Given the description of an element on the screen output the (x, y) to click on. 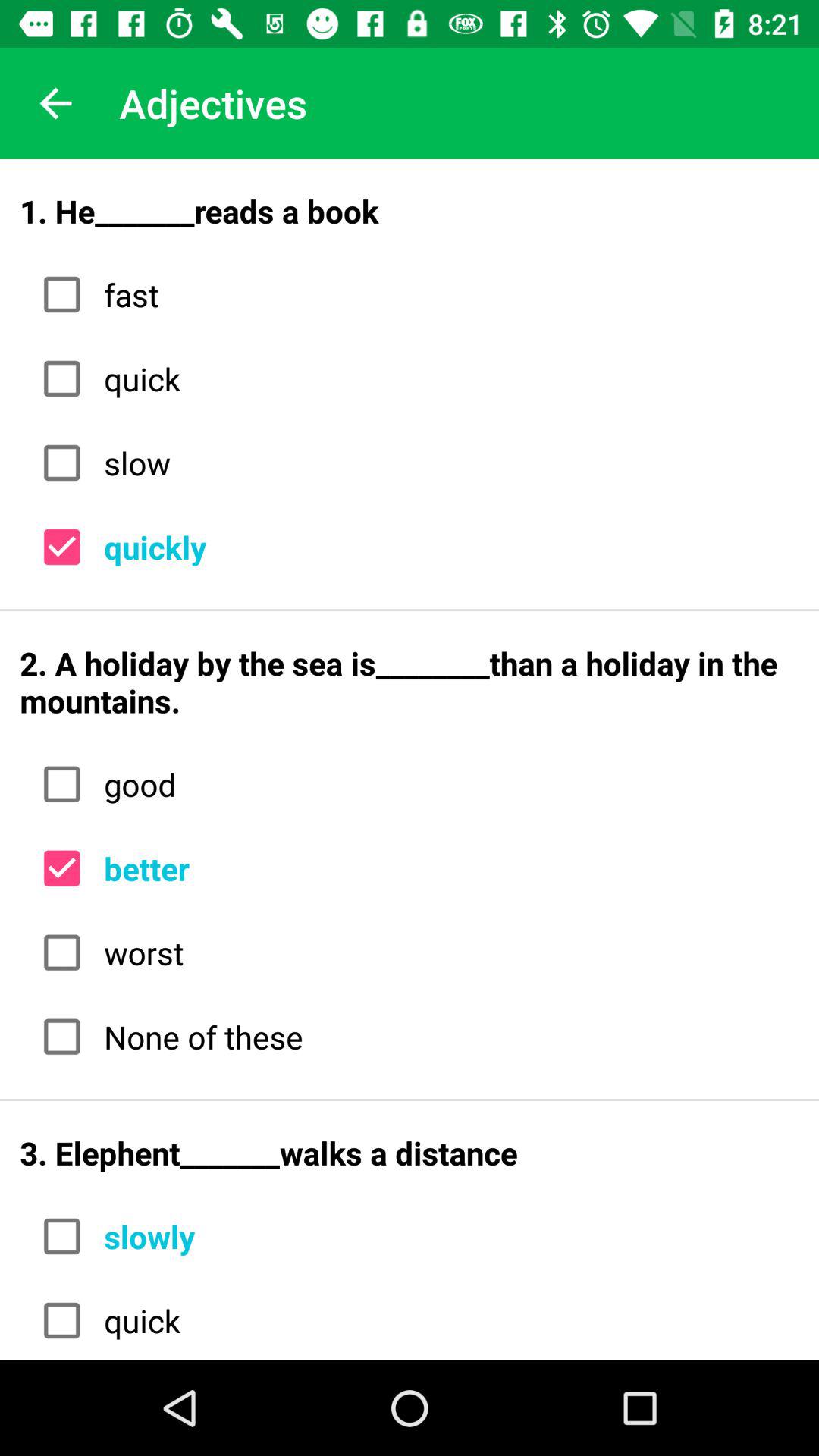
launch item to the left of the adjectives icon (55, 103)
